Given the description of an element on the screen output the (x, y) to click on. 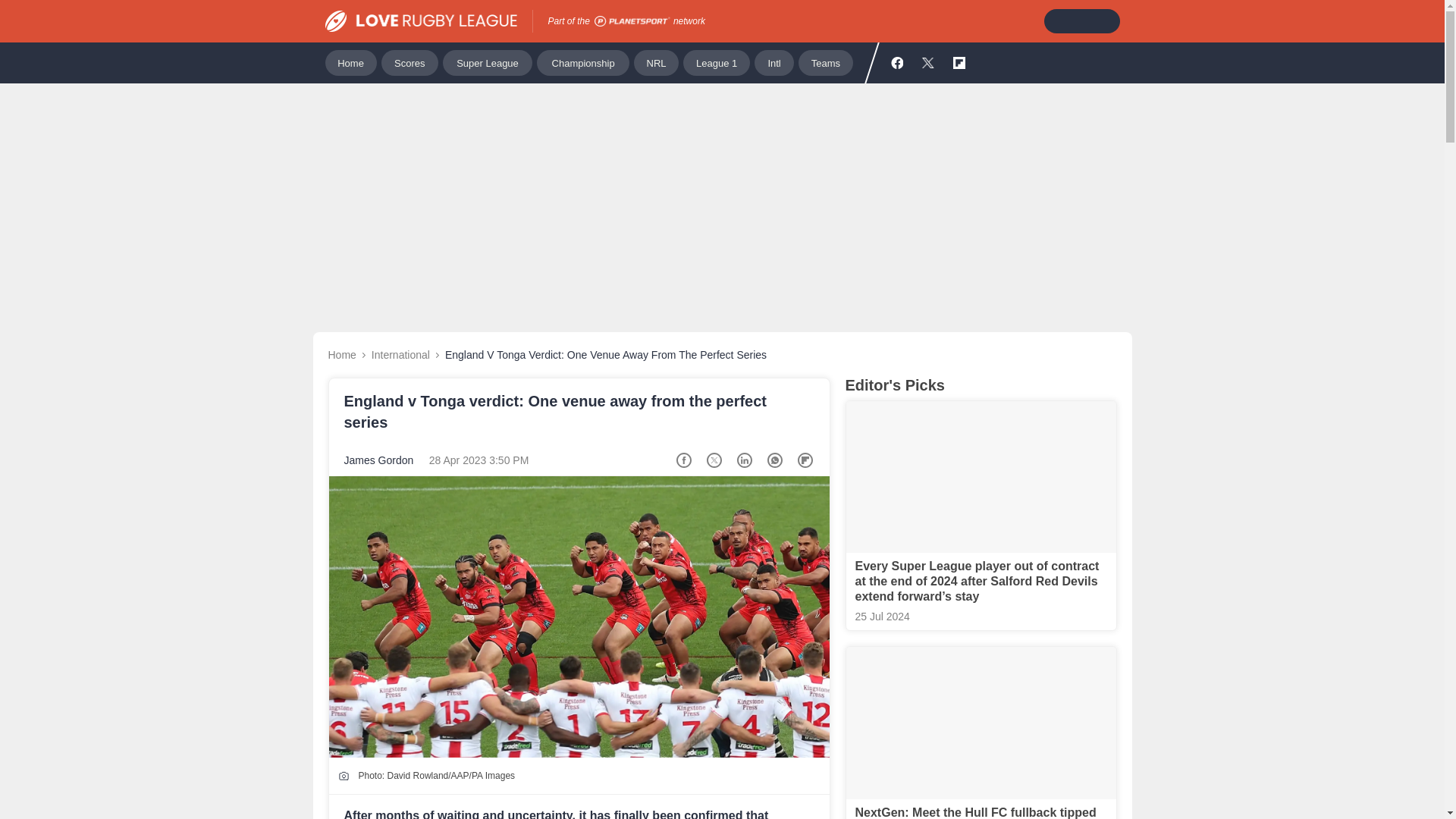
NRL (655, 62)
International (400, 354)
League 1 (715, 62)
Championship (582, 62)
Super League (487, 62)
Teams (825, 62)
Scores (409, 62)
Home (341, 354)
Home (349, 62)
James Gordon (378, 460)
Intl (773, 62)
